Given the description of an element on the screen output the (x, y) to click on. 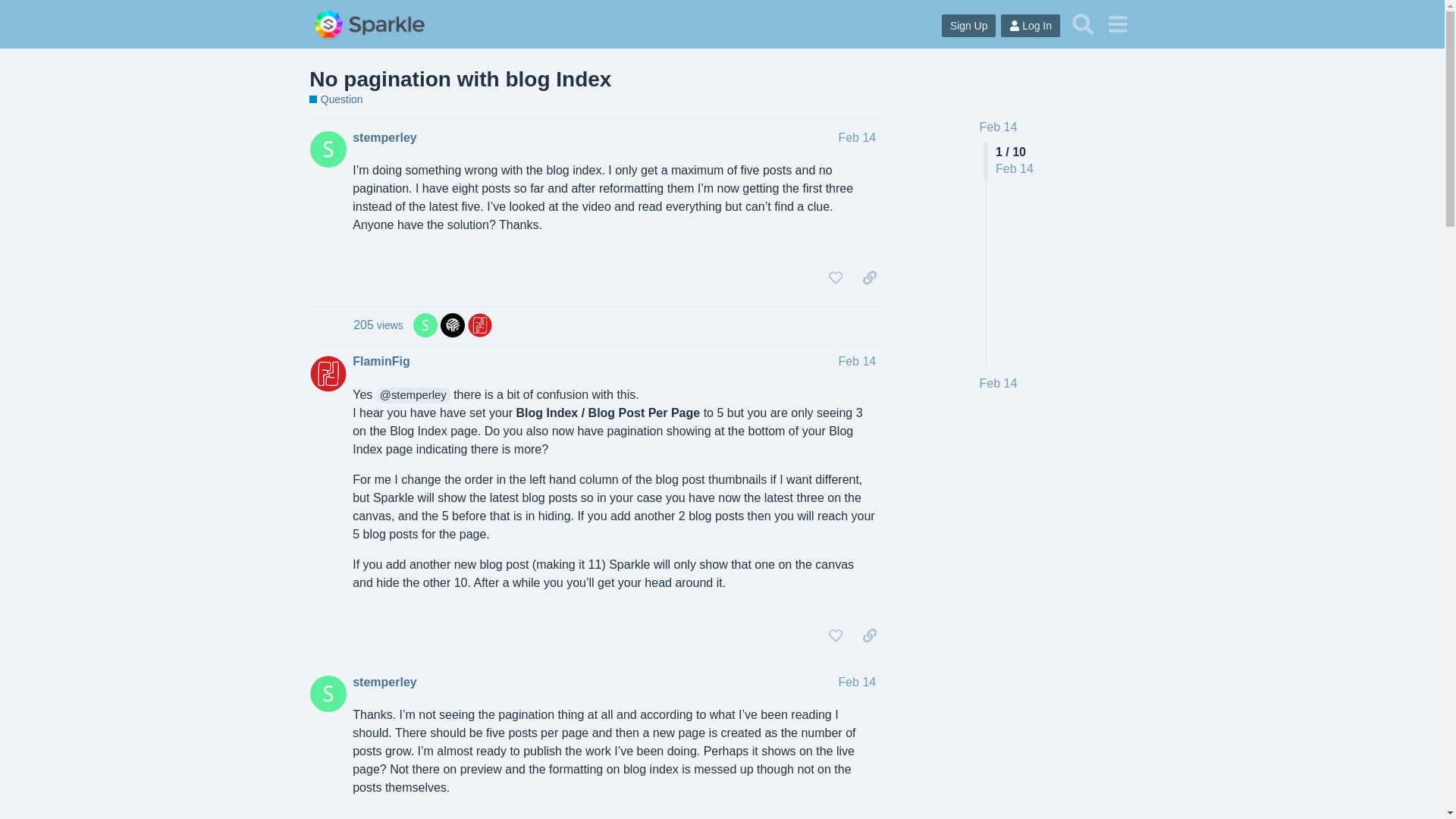
Jump to the last post (998, 382)
Post date (857, 137)
Feb 14 (998, 126)
Feb 14 (857, 681)
Post date (857, 360)
stemperley (384, 682)
Feb 14 (857, 137)
Sign Up (968, 25)
menu (1117, 23)
Search (1082, 23)
